Given the description of an element on the screen output the (x, y) to click on. 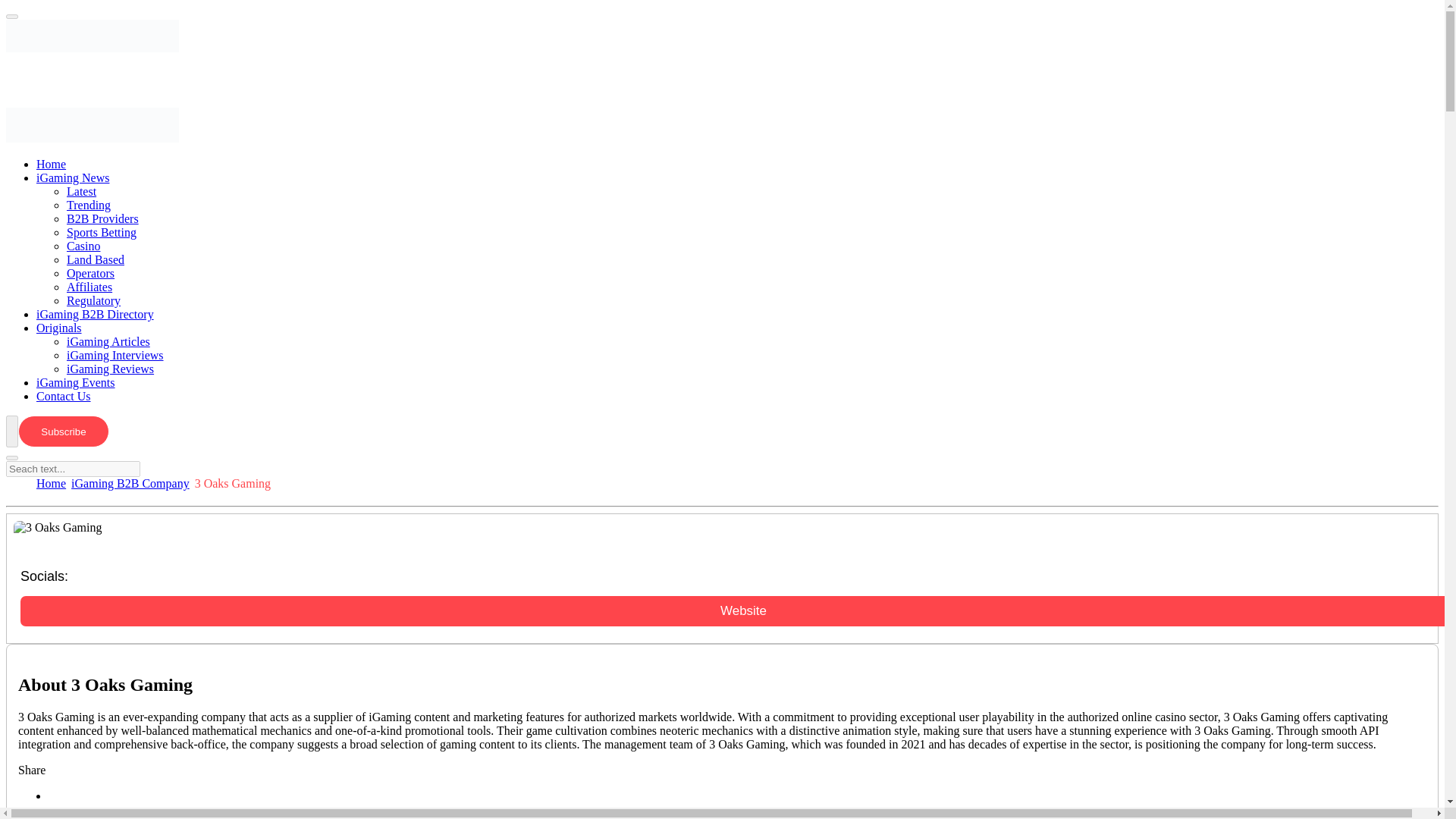
3 Oaks Gaming (57, 527)
Home (66, 163)
Trending (103, 204)
iGaming News (87, 177)
iGaming B2B Company (130, 482)
Casino (98, 245)
Affiliates (104, 286)
Home (50, 482)
B2B Providers (117, 218)
Home (50, 482)
